Given the description of an element on the screen output the (x, y) to click on. 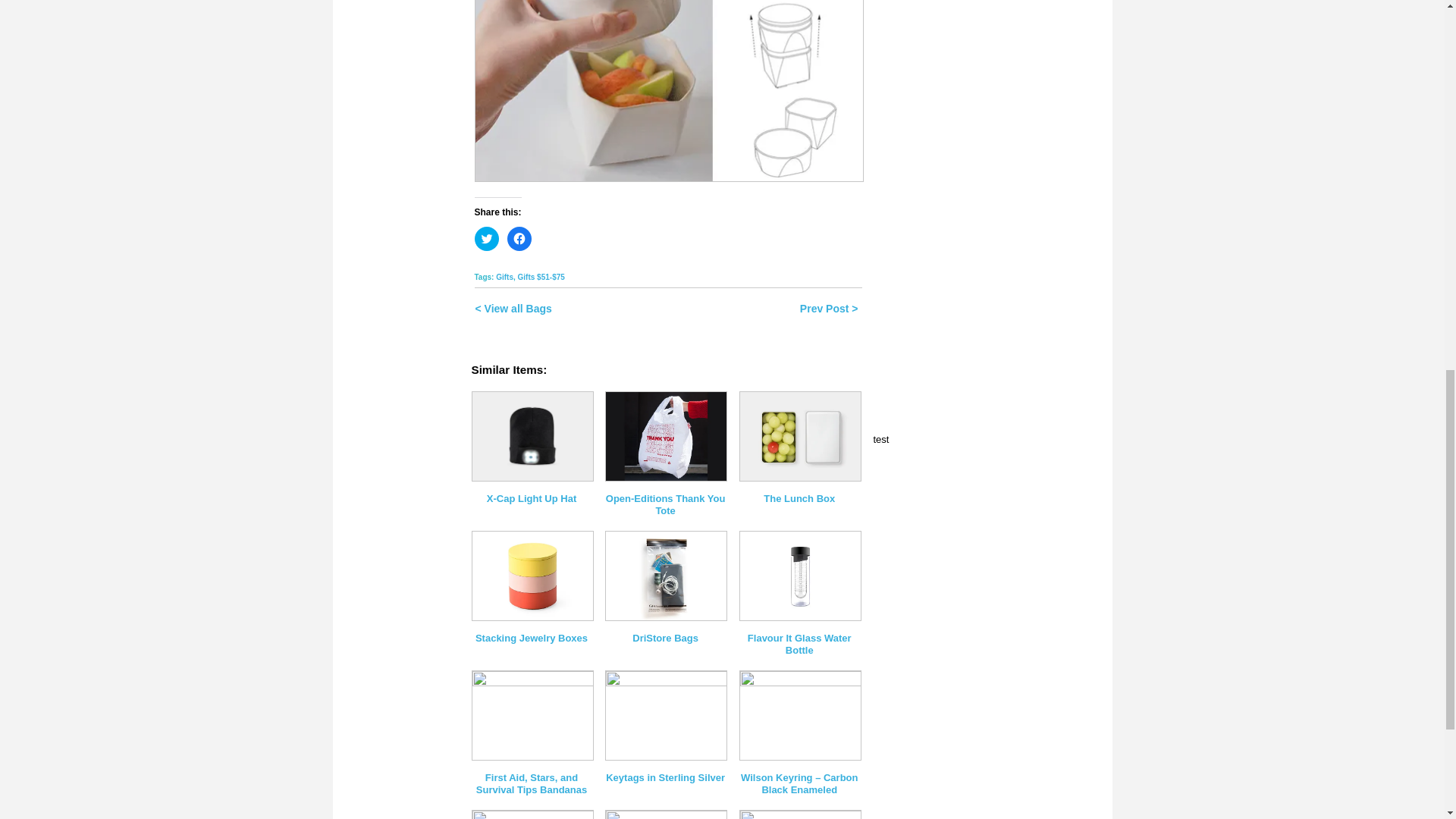
Click to share on Facebook (518, 238)
Click to share on Twitter (486, 238)
